Given the description of an element on the screen output the (x, y) to click on. 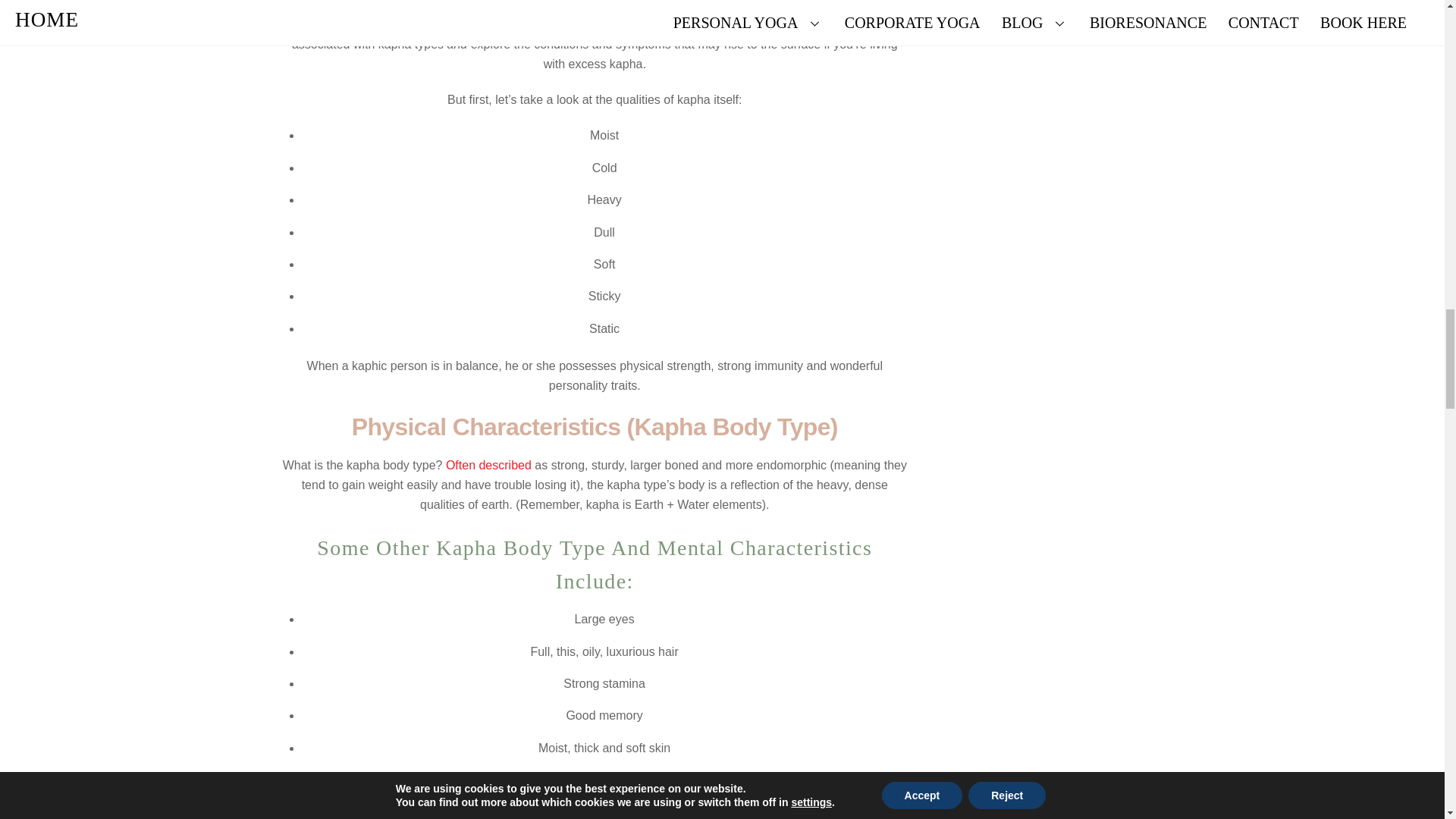
Often described (488, 464)
